Given the description of an element on the screen output the (x, y) to click on. 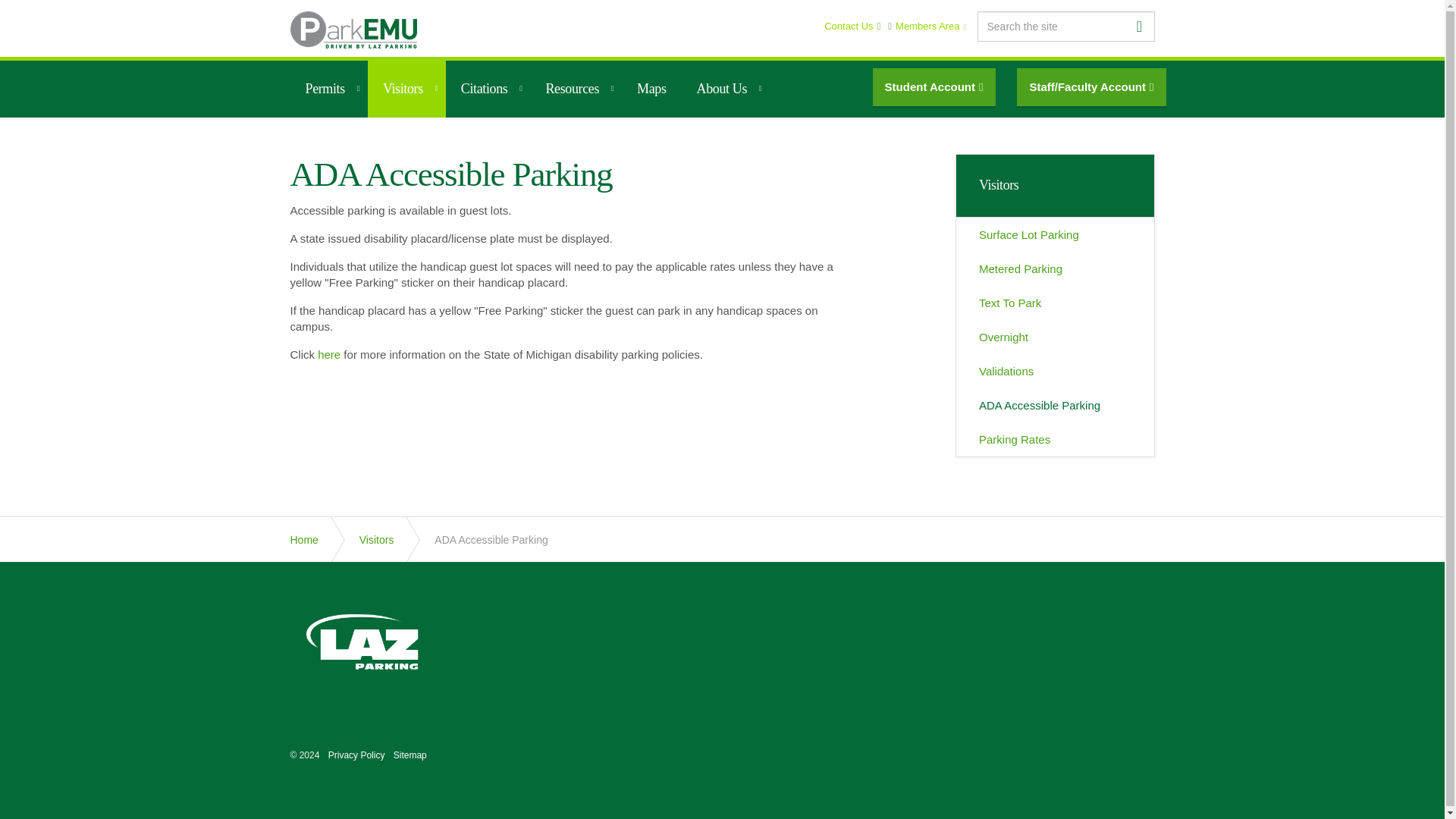
Permits (327, 88)
Eastern Michigan University Parking (352, 29)
Resources (575, 88)
Student Account (933, 86)
here (328, 354)
Visitors (406, 88)
Citations (488, 88)
